Given the description of an element on the screen output the (x, y) to click on. 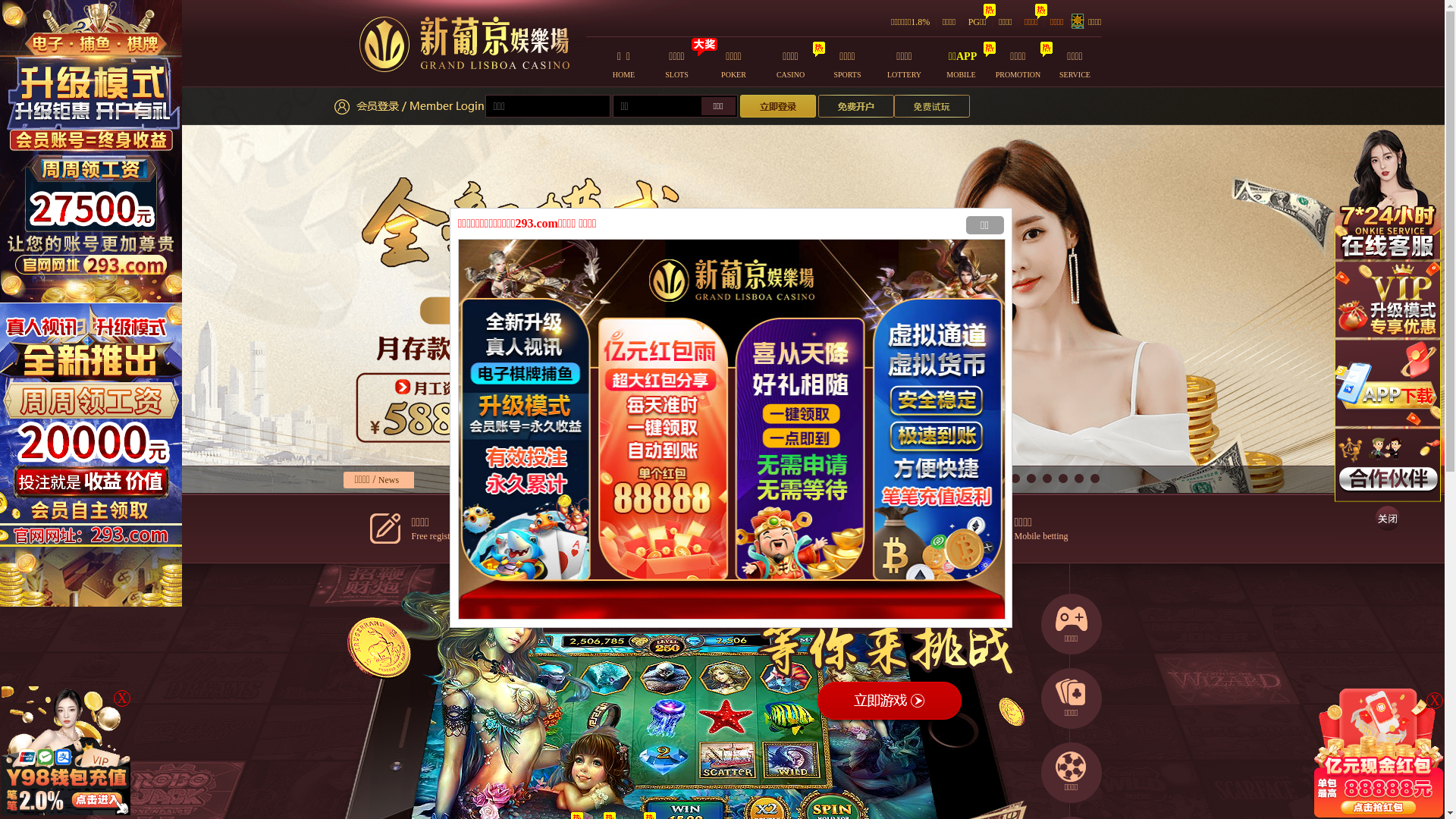
X Element type: text (1434, 700)
X Element type: text (121, 698)
